Given the description of an element on the screen output the (x, y) to click on. 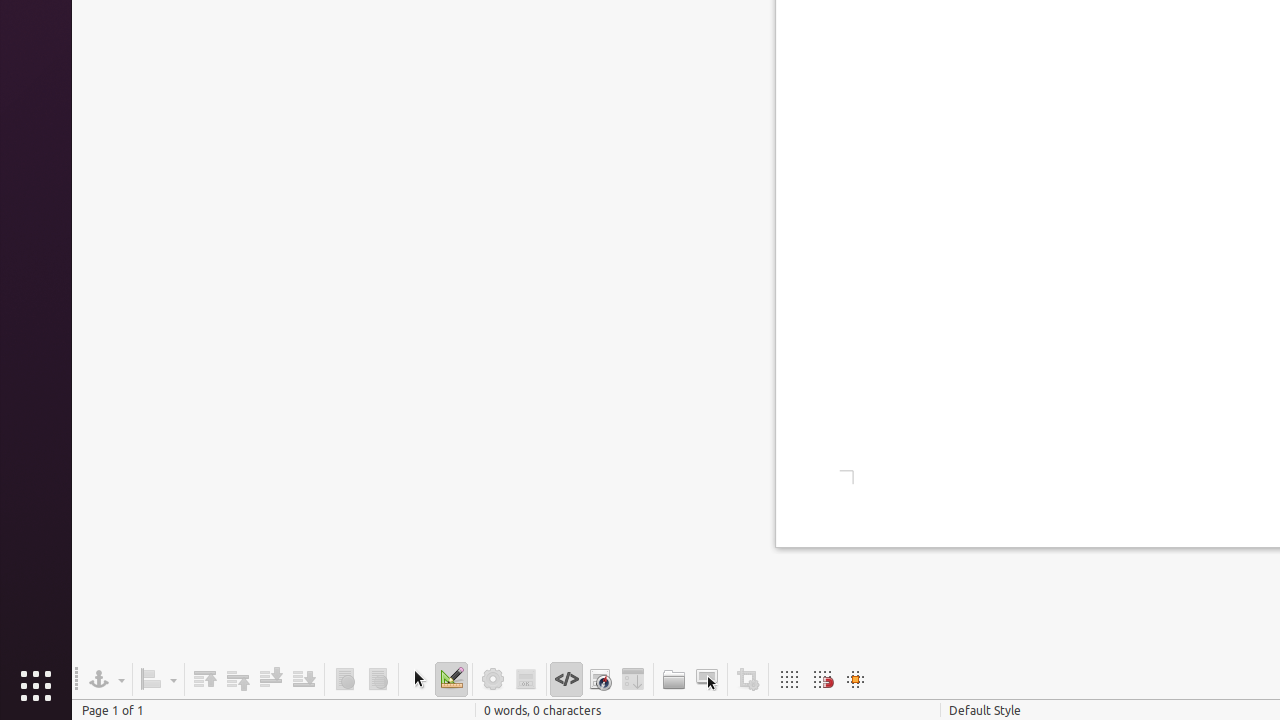
Show Applications Element type: toggle-button (36, 686)
